Given the description of an element on the screen output the (x, y) to click on. 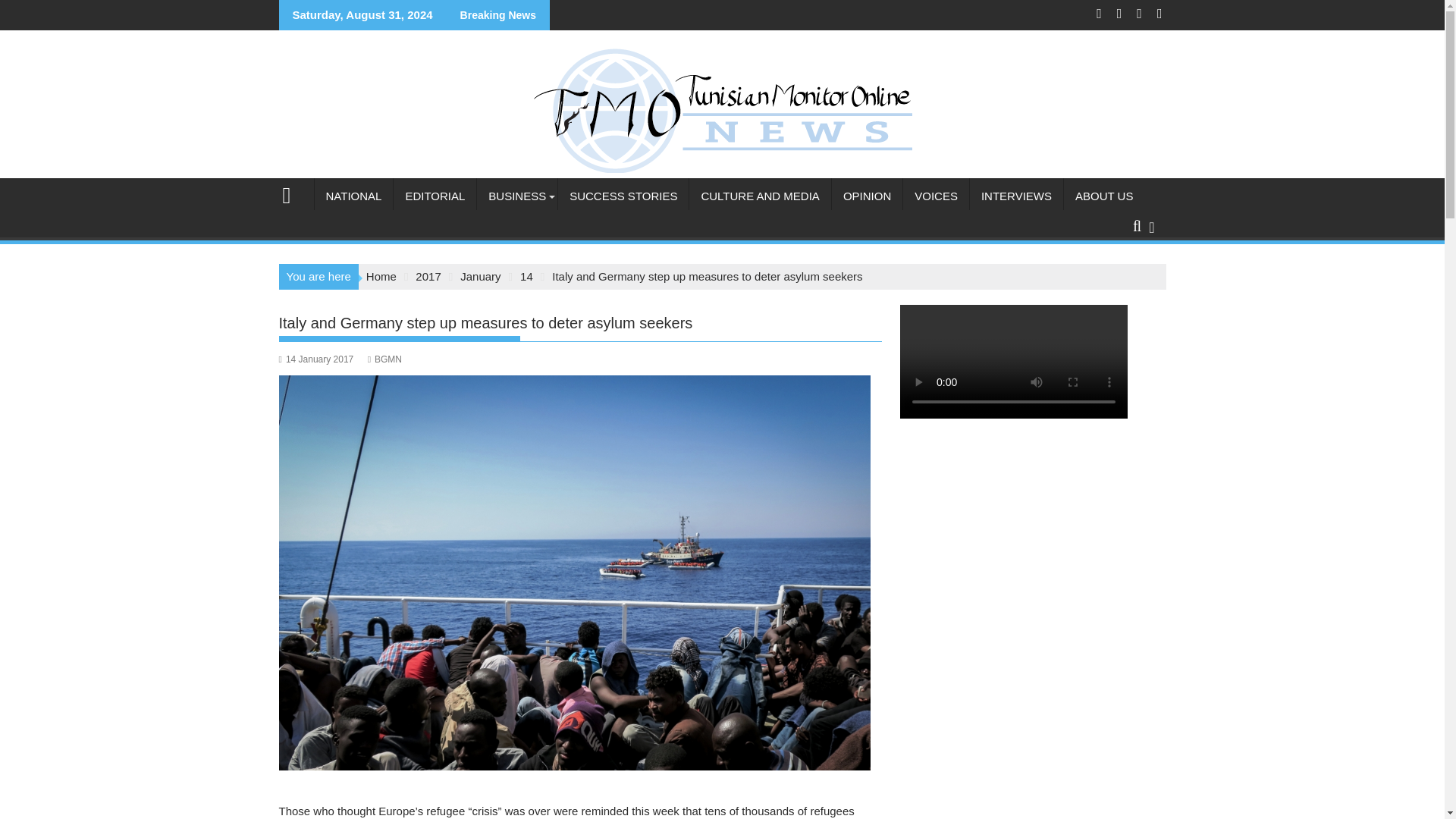
EDITORIAL (434, 196)
BUSINESS (517, 196)
INTERVIEWS (1015, 196)
14 January 2017 (316, 358)
Tunisian Monitor Online (293, 193)
Home (381, 276)
14 (525, 276)
VOICES (935, 196)
BGMN (384, 358)
NATIONAL (353, 196)
